Given the description of an element on the screen output the (x, y) to click on. 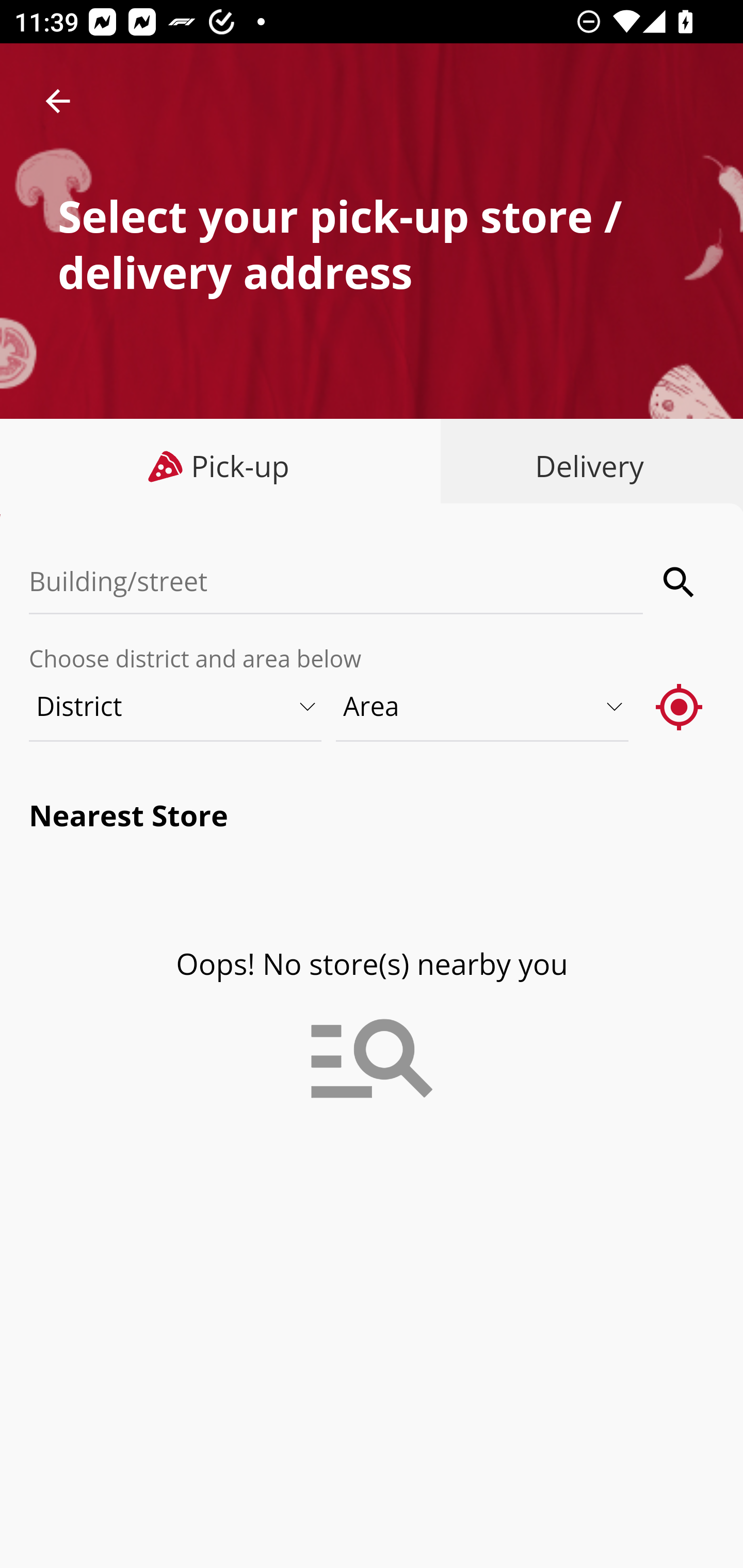
arrow_back (58, 100)
prev next Pick-up Delivery (371, 467)
Delivery (585, 466)
search (679, 582)
gps_fixed (679, 706)
District (175, 706)
Area (482, 706)
